Given the description of an element on the screen output the (x, y) to click on. 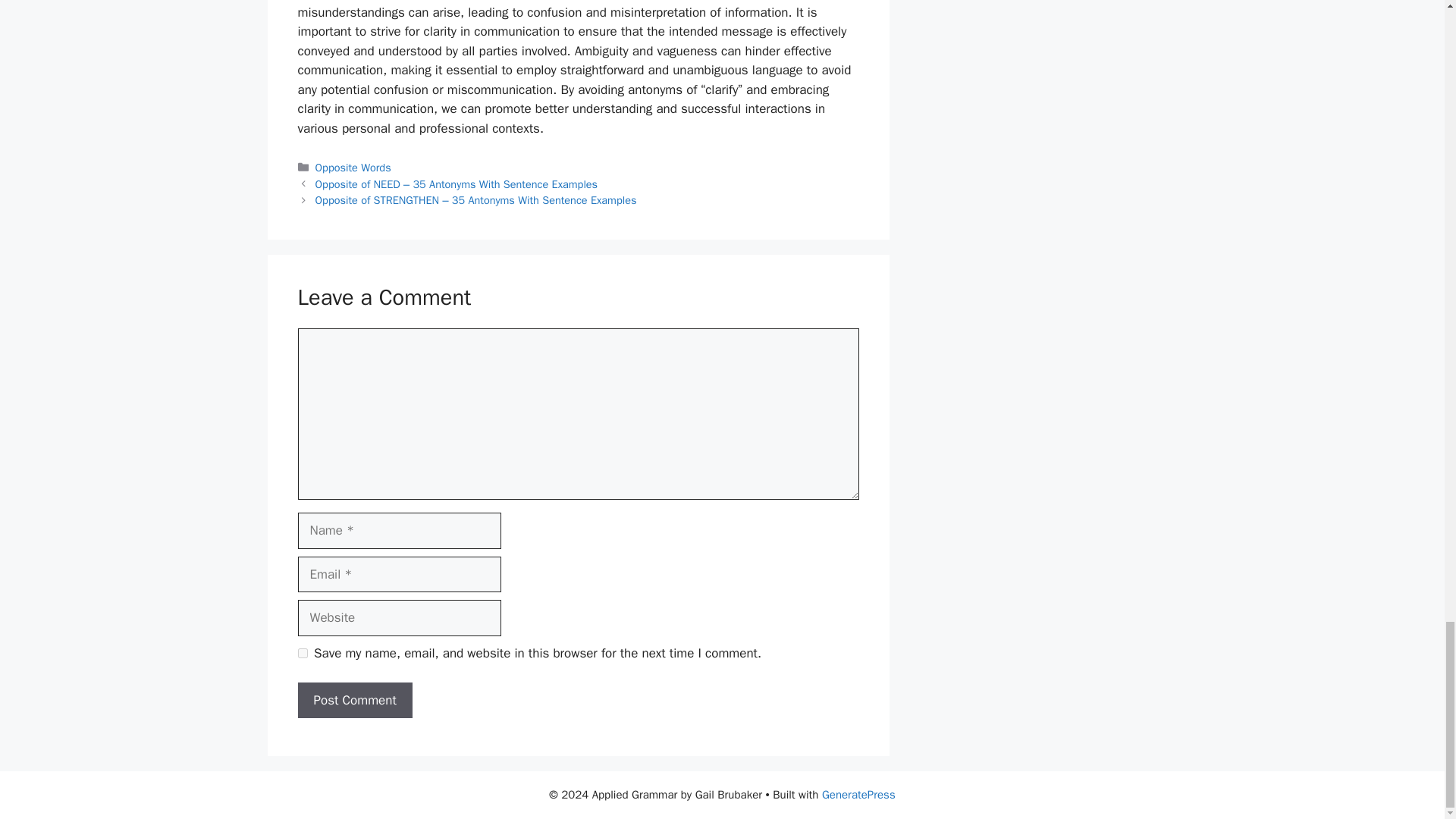
Post Comment (354, 700)
Opposite Words (353, 167)
yes (302, 653)
Post Comment (354, 700)
